Given the description of an element on the screen output the (x, y) to click on. 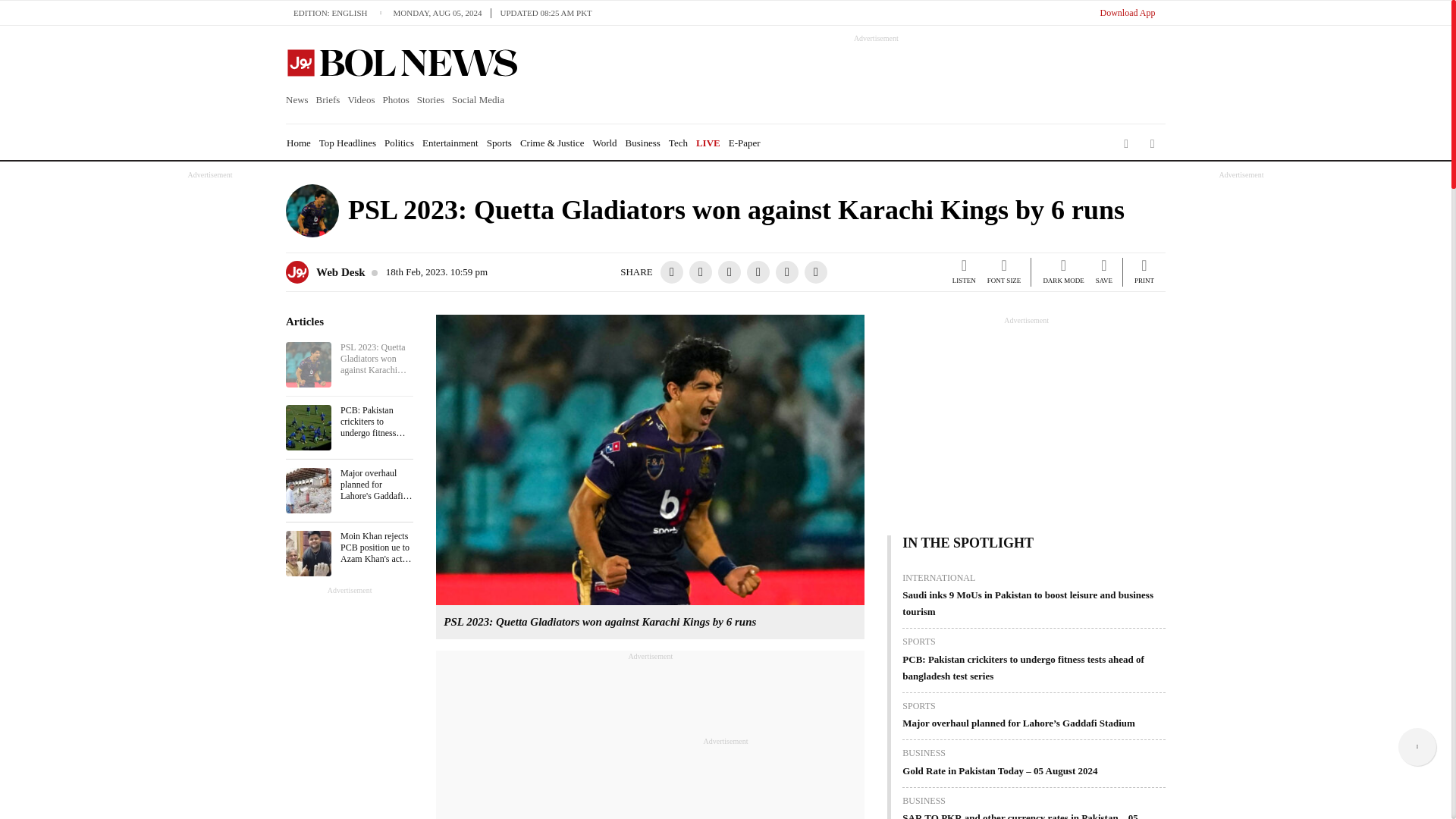
News (299, 99)
Videos (360, 99)
Stories (430, 99)
Photos (395, 99)
Social Media (478, 99)
Download App (1127, 12)
MONDAY, AUG 05, 2024 (441, 12)
Top Headlines (346, 143)
Entertainment (450, 143)
UPDATED 08:25 AM PKT (546, 12)
Briefs (328, 99)
Business (643, 143)
